Given the description of an element on the screen output the (x, y) to click on. 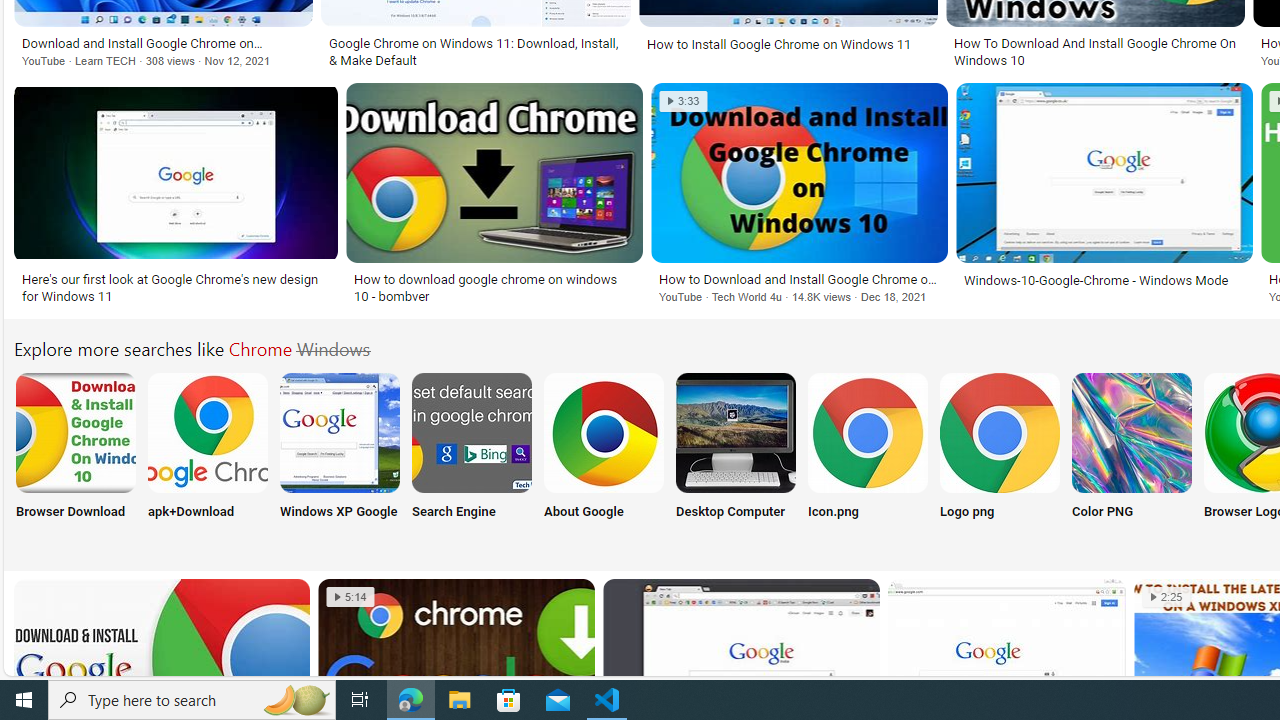
Icon.png (867, 457)
Download and Install Google Chrome on Windows 11 (162, 43)
5:14 (350, 597)
Image result for Chrome Windows (1104, 172)
Chrome Search Engine (472, 432)
Windows-10-Google-Chrome - Windows Mode (1095, 279)
Chrome Desktop Computer Desktop Computer (735, 458)
Windows-10-Google-Chrome - Windows ModeSave (1108, 196)
